Given the description of an element on the screen output the (x, y) to click on. 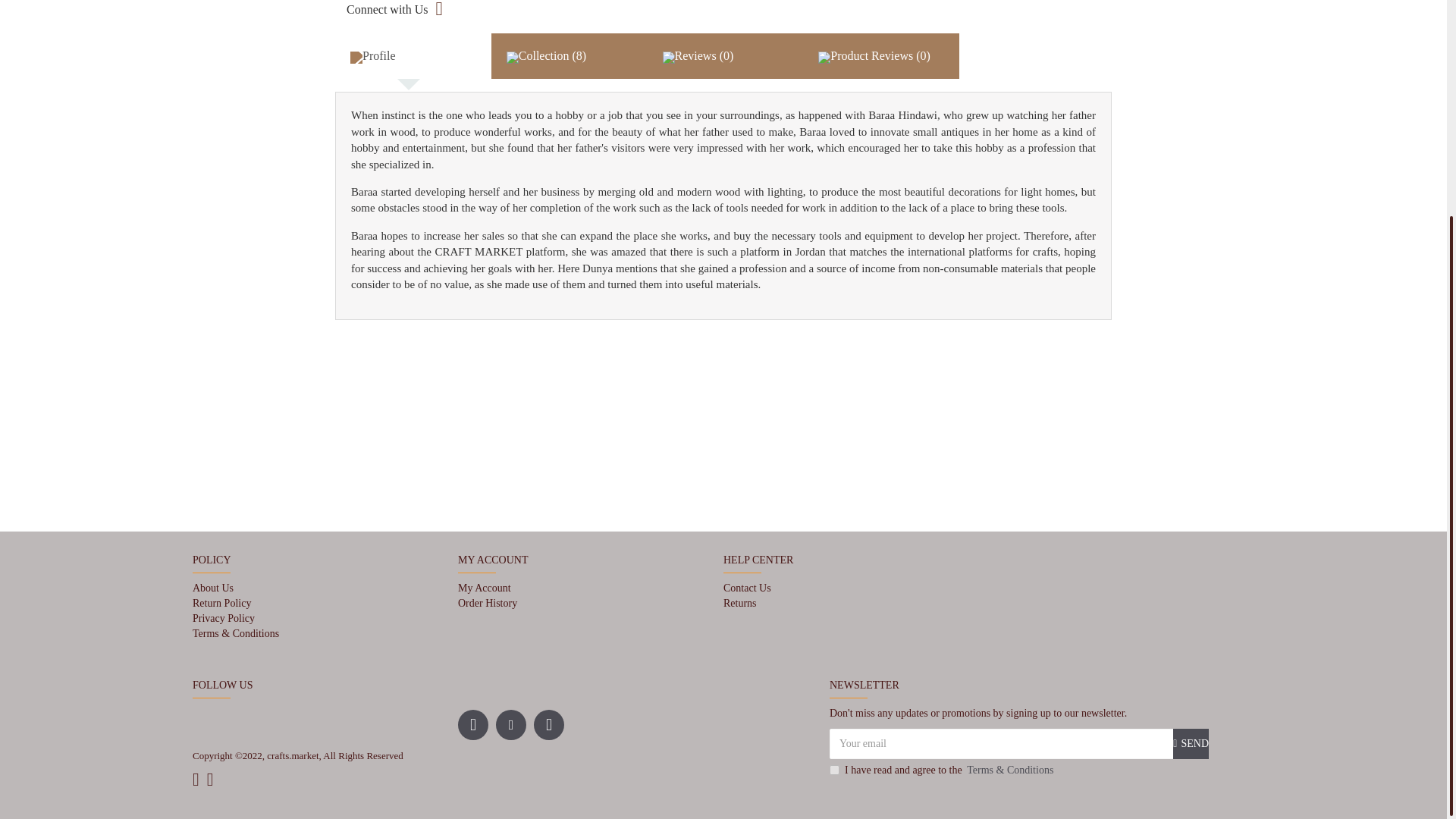
1 (834, 769)
Twitter (549, 725)
Facebook (472, 725)
Instagram (510, 725)
